Given the description of an element on the screen output the (x, y) to click on. 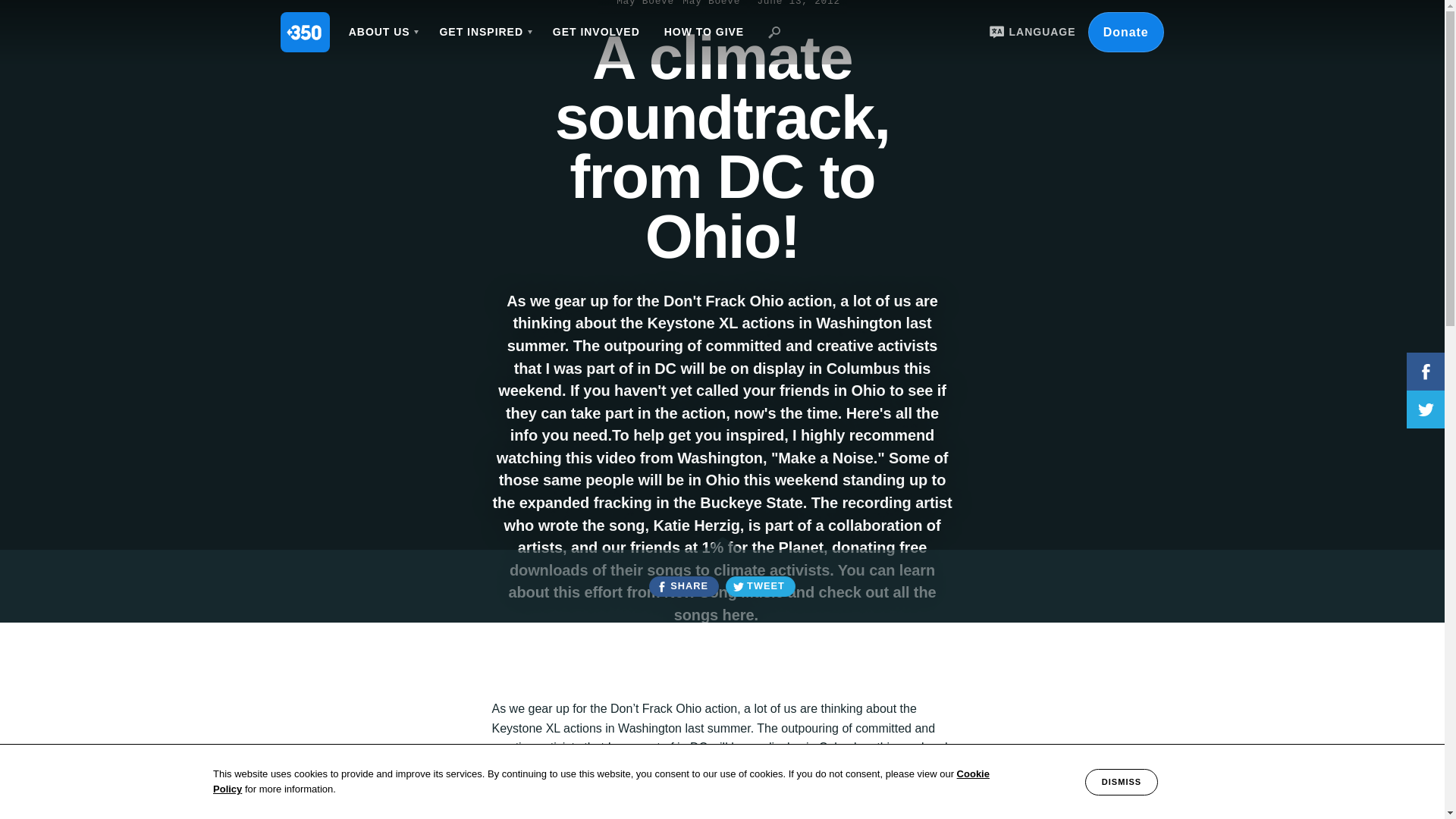
GET INVOLVED (596, 32)
ABOUT US (382, 32)
Donate (1125, 32)
HOW TO GIVE (703, 32)
350 (305, 32)
SHARE (683, 586)
TWEET (759, 586)
GET INSPIRED (483, 32)
LANGUAGE (1029, 32)
